Given the description of an element on the screen output the (x, y) to click on. 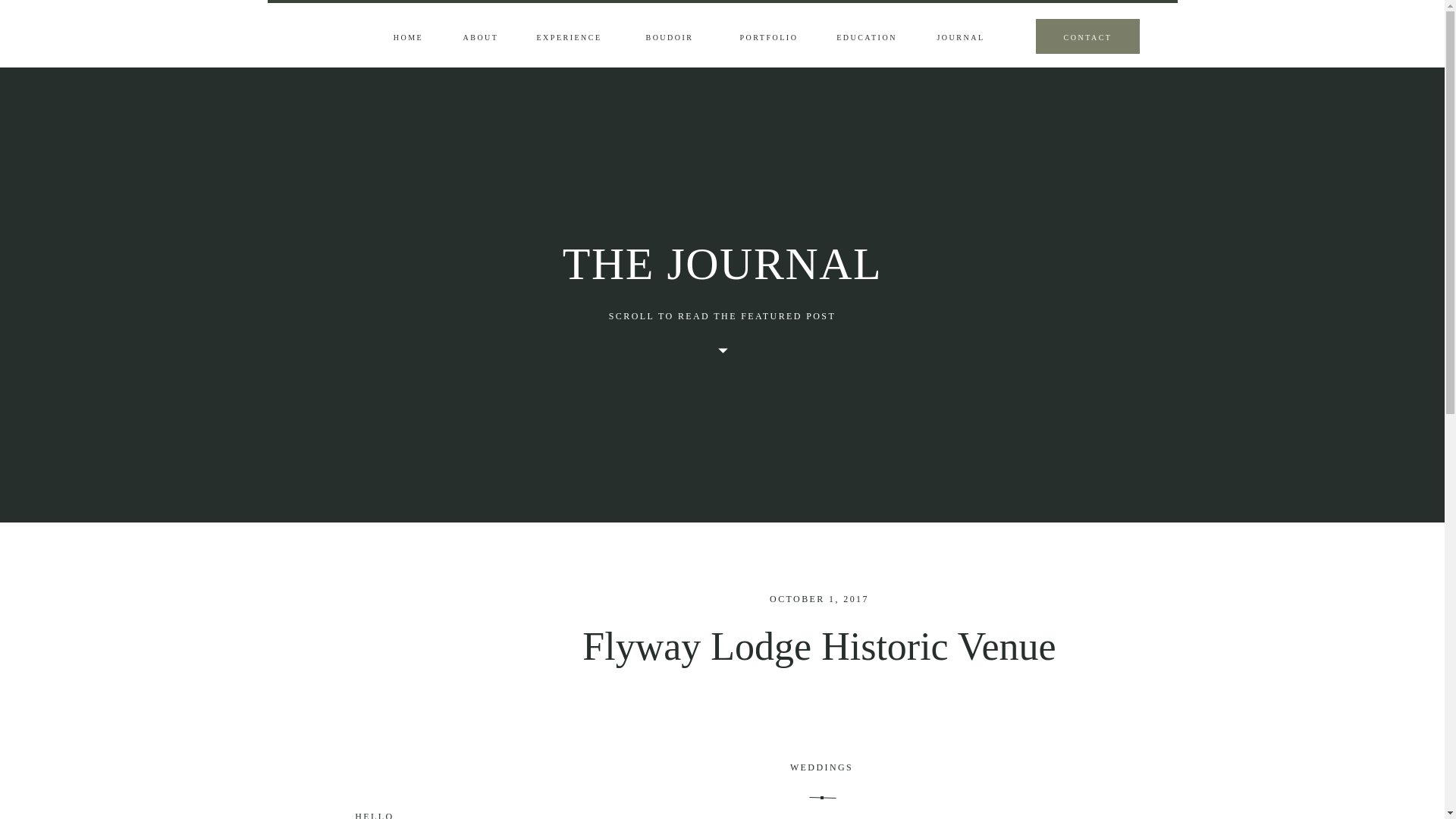
EXPERIENCE (568, 38)
BOUDOIR (670, 38)
JOURNAL (960, 38)
CONTACT (1087, 38)
HOME (409, 38)
PORTFOLIO (768, 38)
ABOUT (480, 38)
EDUCATION (865, 38)
